Given the description of an element on the screen output the (x, y) to click on. 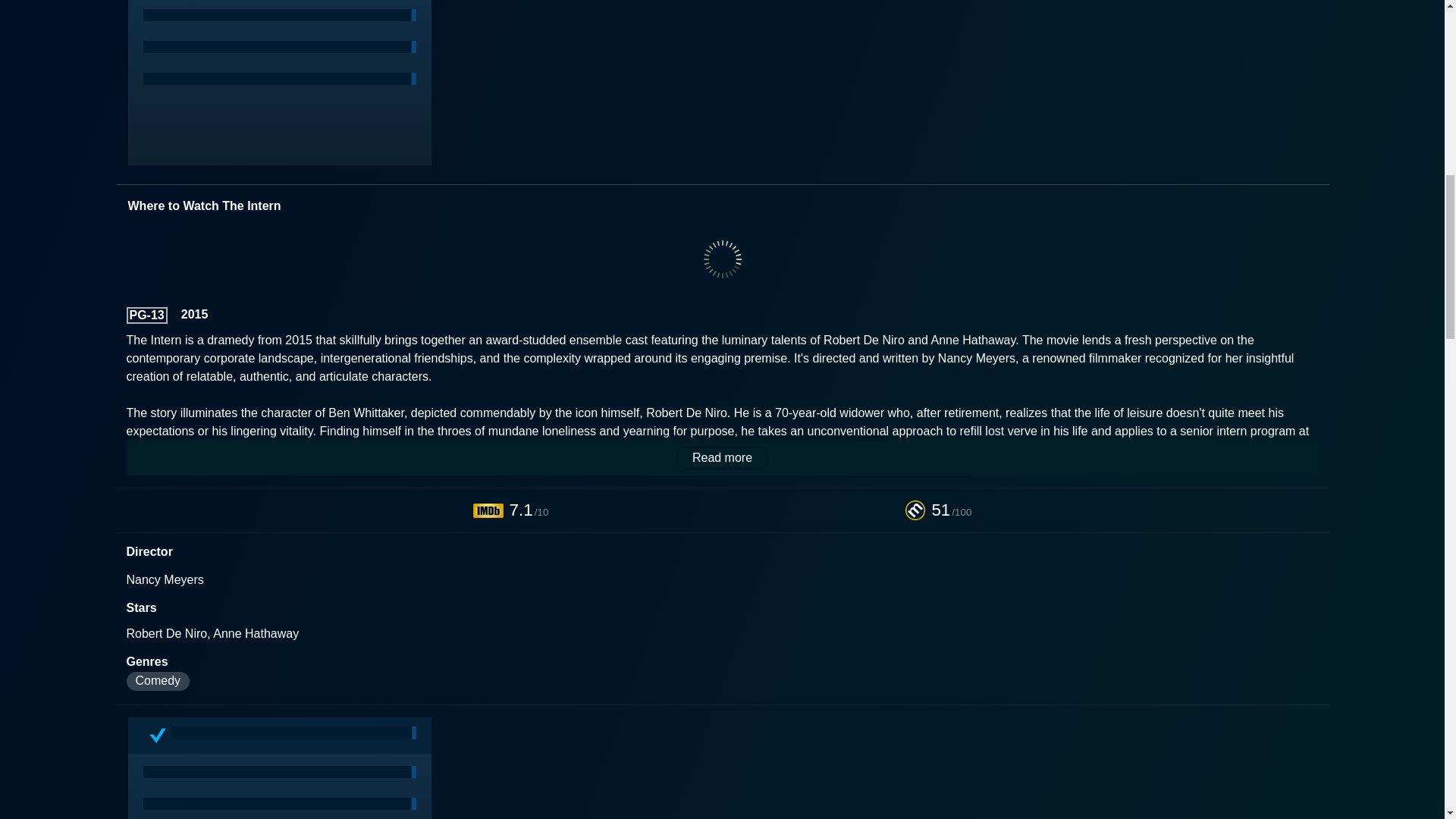
Read more (722, 457)
Comedy (157, 681)
